Given the description of an element on the screen output the (x, y) to click on. 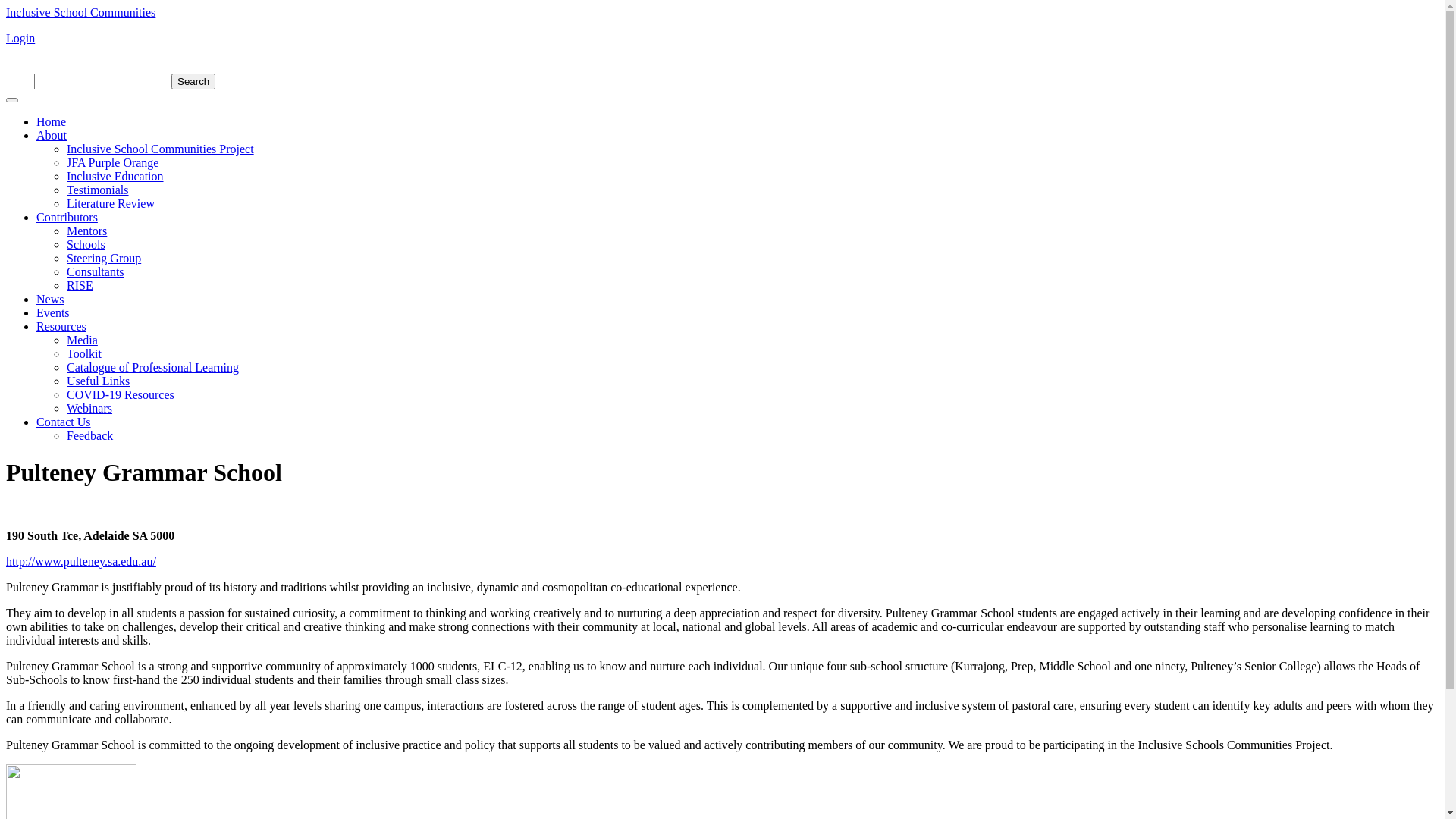
Resources Element type: text (61, 326)
Search Element type: text (193, 81)
Inclusive Education Element type: text (114, 175)
JFA Purple Orange Element type: text (112, 162)
Login Element type: text (20, 37)
Steering Group Element type: text (103, 257)
News Element type: text (49, 298)
Catalogue of Professional Learning Element type: text (152, 366)
Contact Us Element type: text (63, 421)
Consultants Element type: text (95, 271)
Testimonials Element type: text (97, 189)
Schools Element type: text (85, 244)
Contributors Element type: text (66, 216)
Inclusive School Communities Project Element type: text (160, 148)
Home Element type: text (50, 121)
Webinars Element type: text (89, 407)
Toolkit Element type: text (83, 353)
Useful Links Element type: text (97, 380)
About Element type: text (51, 134)
Inclusive School Communities Element type: text (80, 12)
Media Element type: text (81, 339)
RISE Element type: text (79, 285)
Mentors Element type: text (86, 230)
Literature Review Element type: text (110, 203)
COVID-19 Resources Element type: text (120, 394)
Events Element type: text (52, 312)
http://www.pulteney.sa.edu.au/ Element type: text (81, 561)
Feedback Element type: text (89, 435)
